Given the description of an element on the screen output the (x, y) to click on. 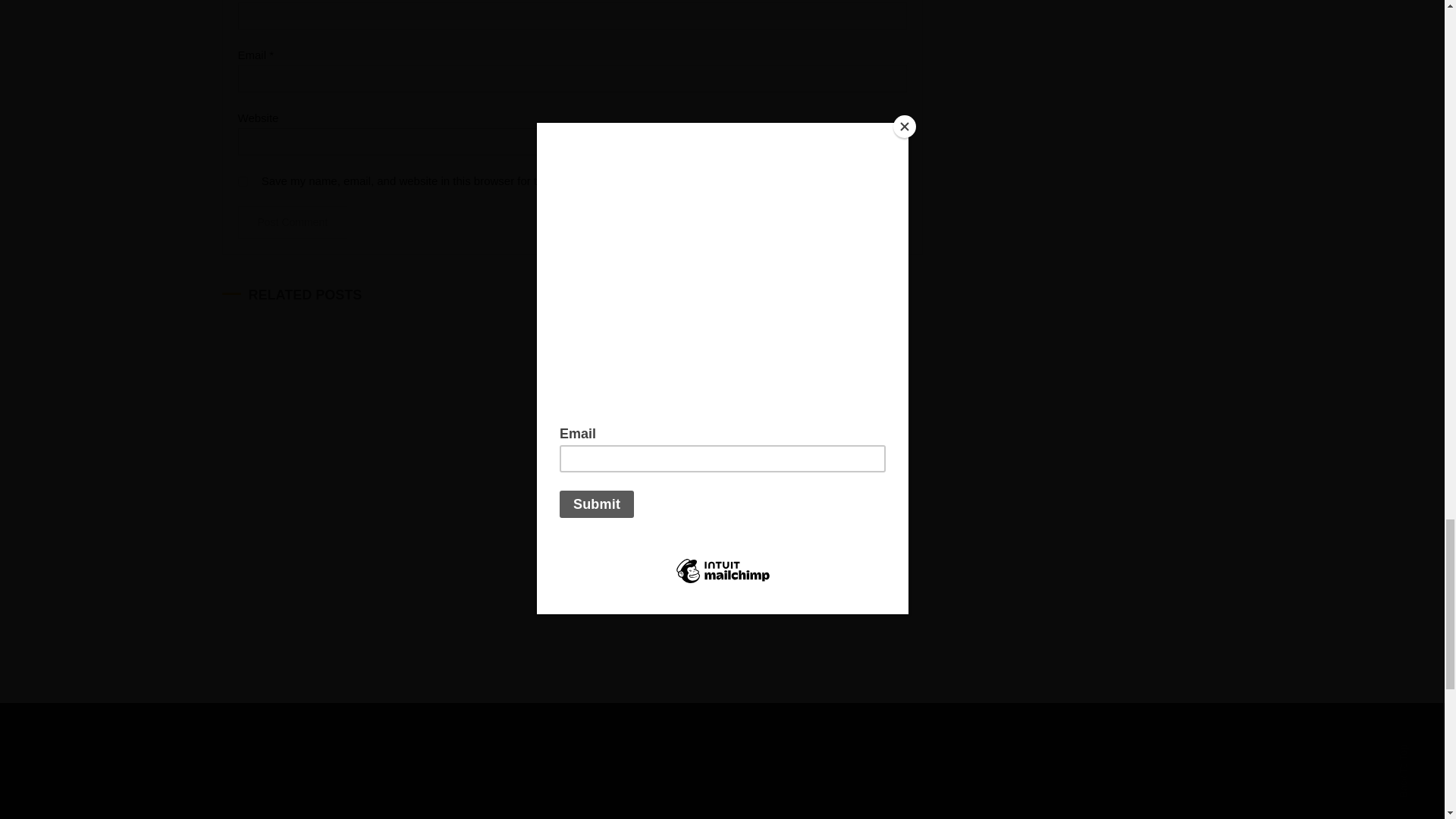
Post Comment (292, 222)
Post Comment (292, 222)
yes (242, 181)
